Given the description of an element on the screen output the (x, y) to click on. 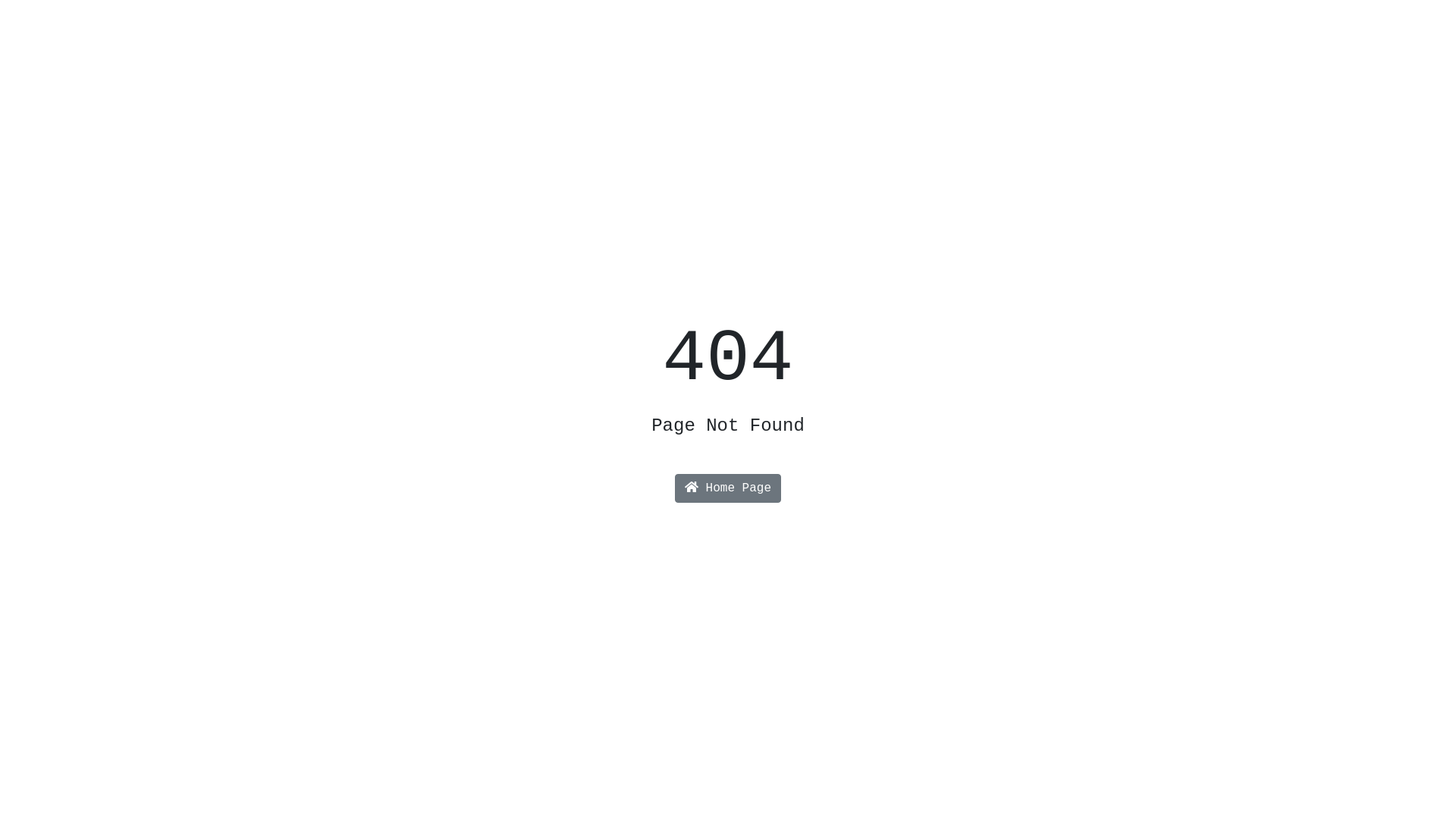
Home Page Element type: text (727, 487)
